Given the description of an element on the screen output the (x, y) to click on. 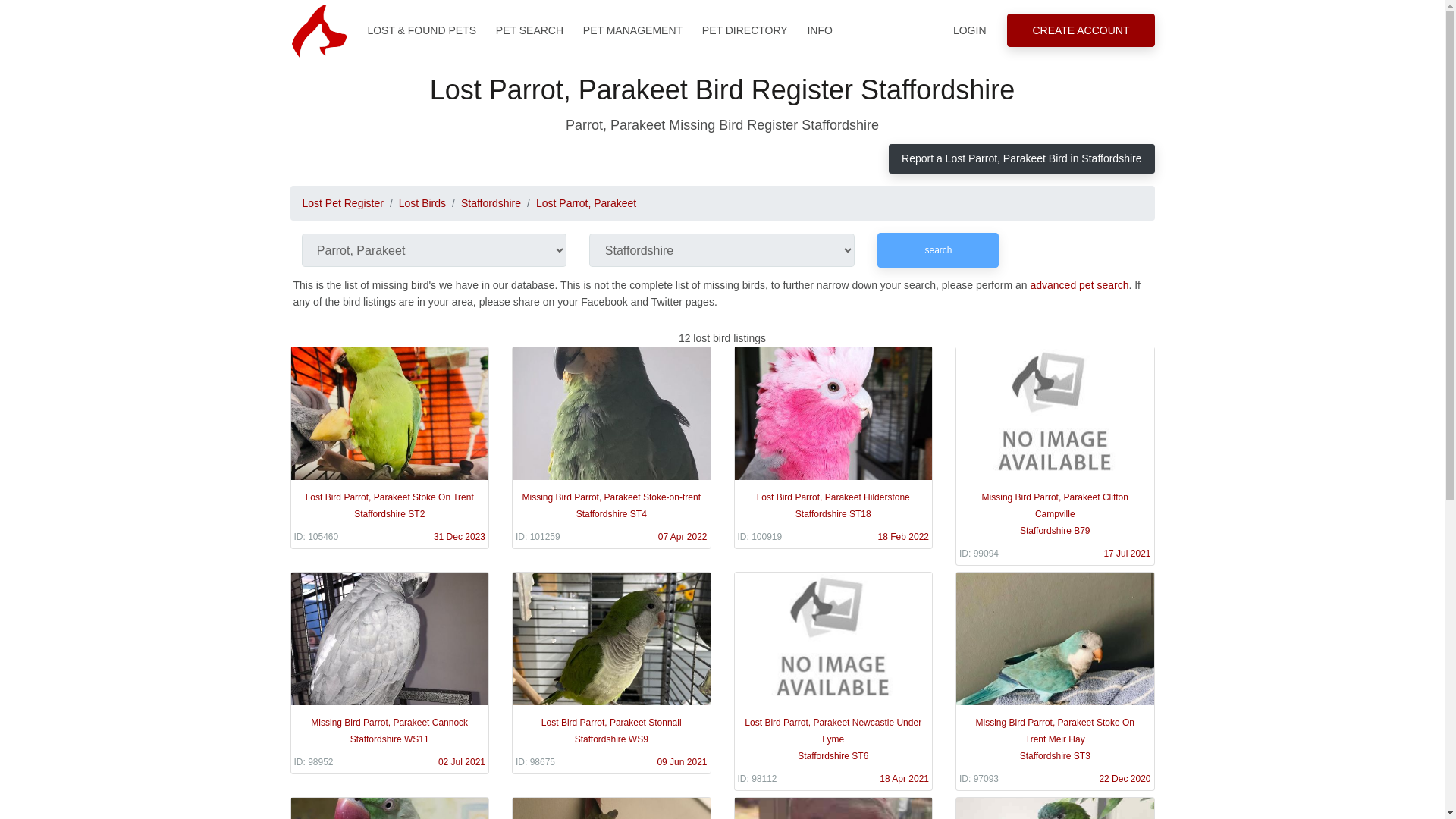
Lost Bird Parrot, Parakeet Norton, Stoke-on-Trent (1054, 807)
search (937, 249)
Lost Pet Register (341, 203)
Staffordshire (491, 203)
PET MANAGEMENT (632, 30)
Missing Bird Parrot, Parakeet Clifton Campville (1054, 455)
Lost Bird Parrot, Parakeet Stonnall  (611, 672)
Missing Bird Parrot, Parakeet Stoke On Trent Meir Hay  (1054, 681)
Missing Bird Parrot, Parakeet Wimblebury (833, 807)
Lost Bird Parrot, Parakeet Cannock (611, 807)
